Given the description of an element on the screen output the (x, y) to click on. 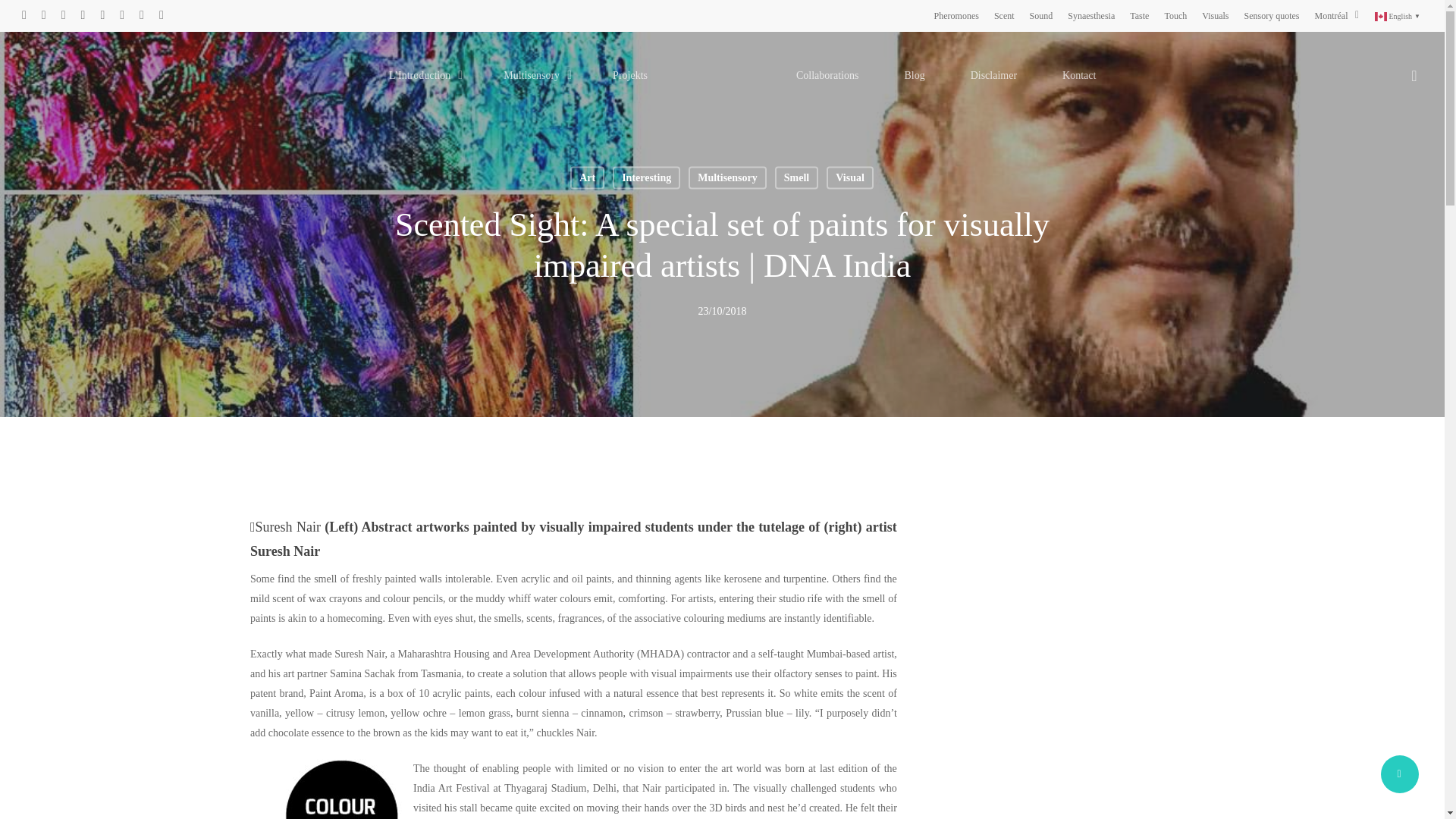
Visuals (1215, 15)
Taste (1138, 15)
youtube (102, 15)
twitter (23, 15)
Synaesthesia (1091, 15)
Sensory quotes (1272, 15)
RSS (121, 15)
Pheromones (956, 15)
Sound (1040, 15)
instagram (141, 15)
soundcloud (160, 15)
facebook (44, 15)
pinterest (63, 15)
Scent (1004, 15)
linkedin (83, 15)
